Given the description of an element on the screen output the (x, y) to click on. 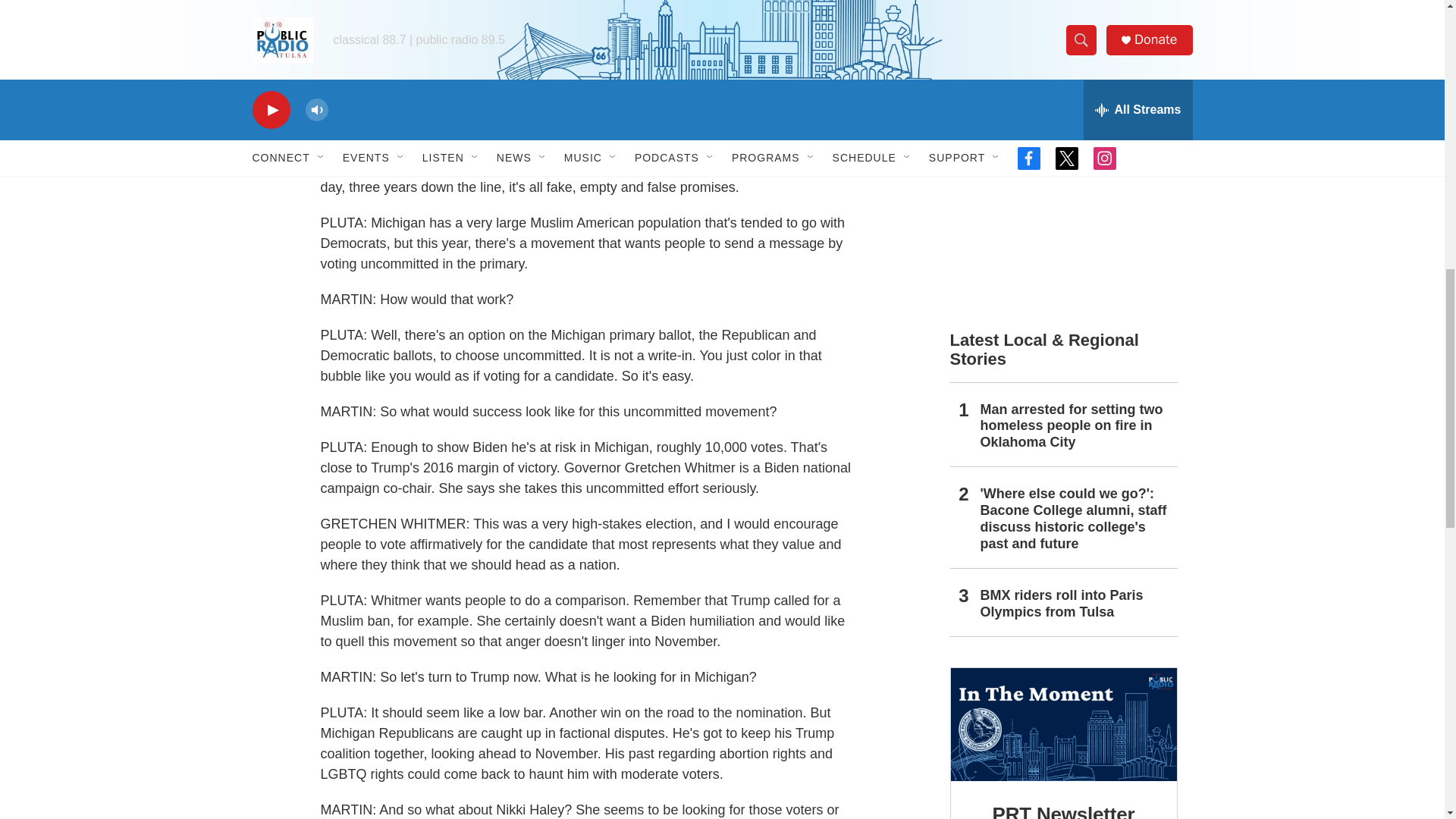
3rd party ad content (1062, 203)
